Given the description of an element on the screen output the (x, y) to click on. 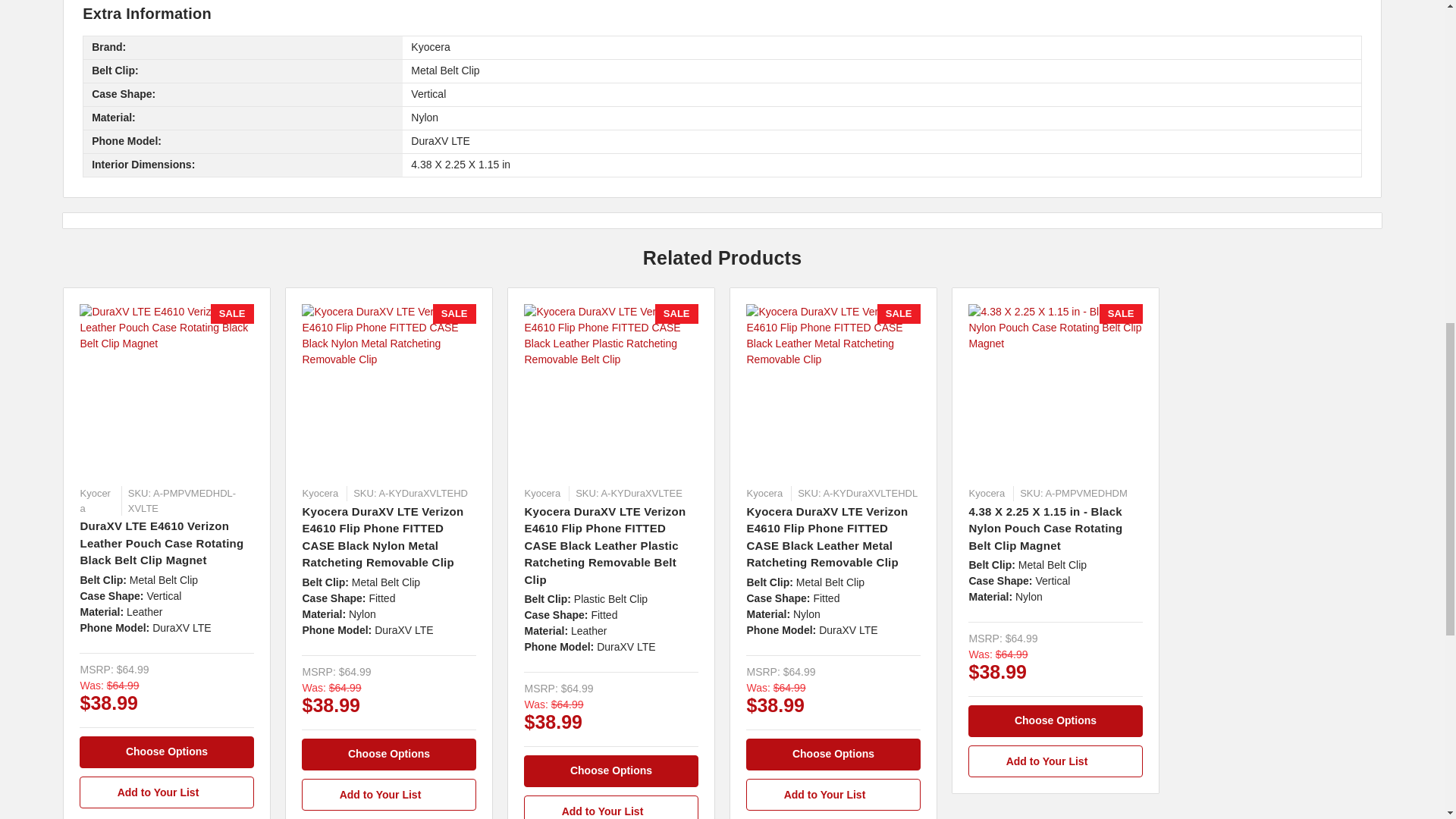
Add to Your List (388, 794)
Add to Your List (166, 792)
Add to Your List (610, 807)
